Given the description of an element on the screen output the (x, y) to click on. 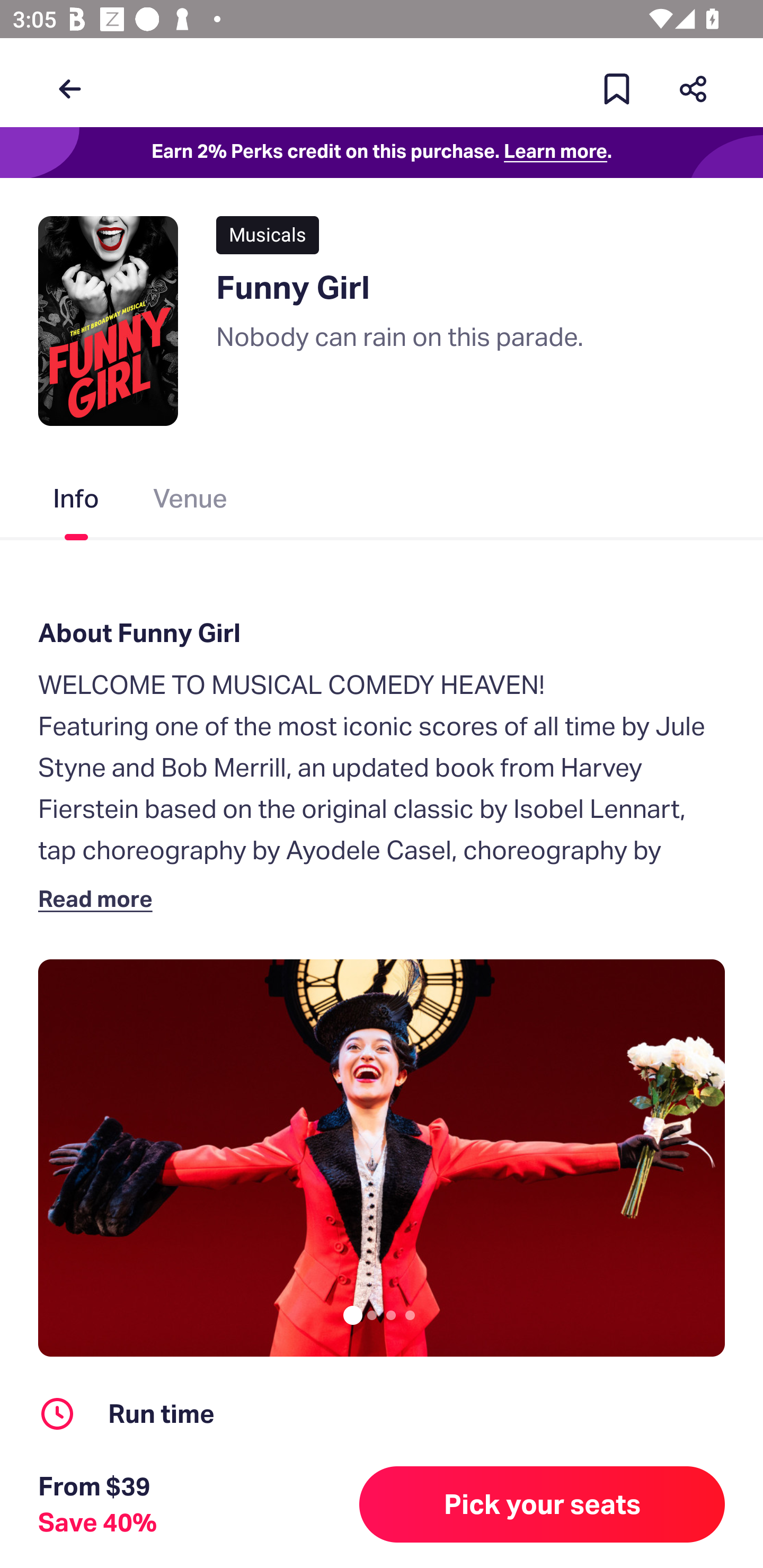
Earn 2% Perks credit on this purchase. Learn more. (381, 152)
Venue (190, 502)
About Funny Girl (381, 632)
Read more (99, 897)
Pick your seats (541, 1504)
